Given the description of an element on the screen output the (x, y) to click on. 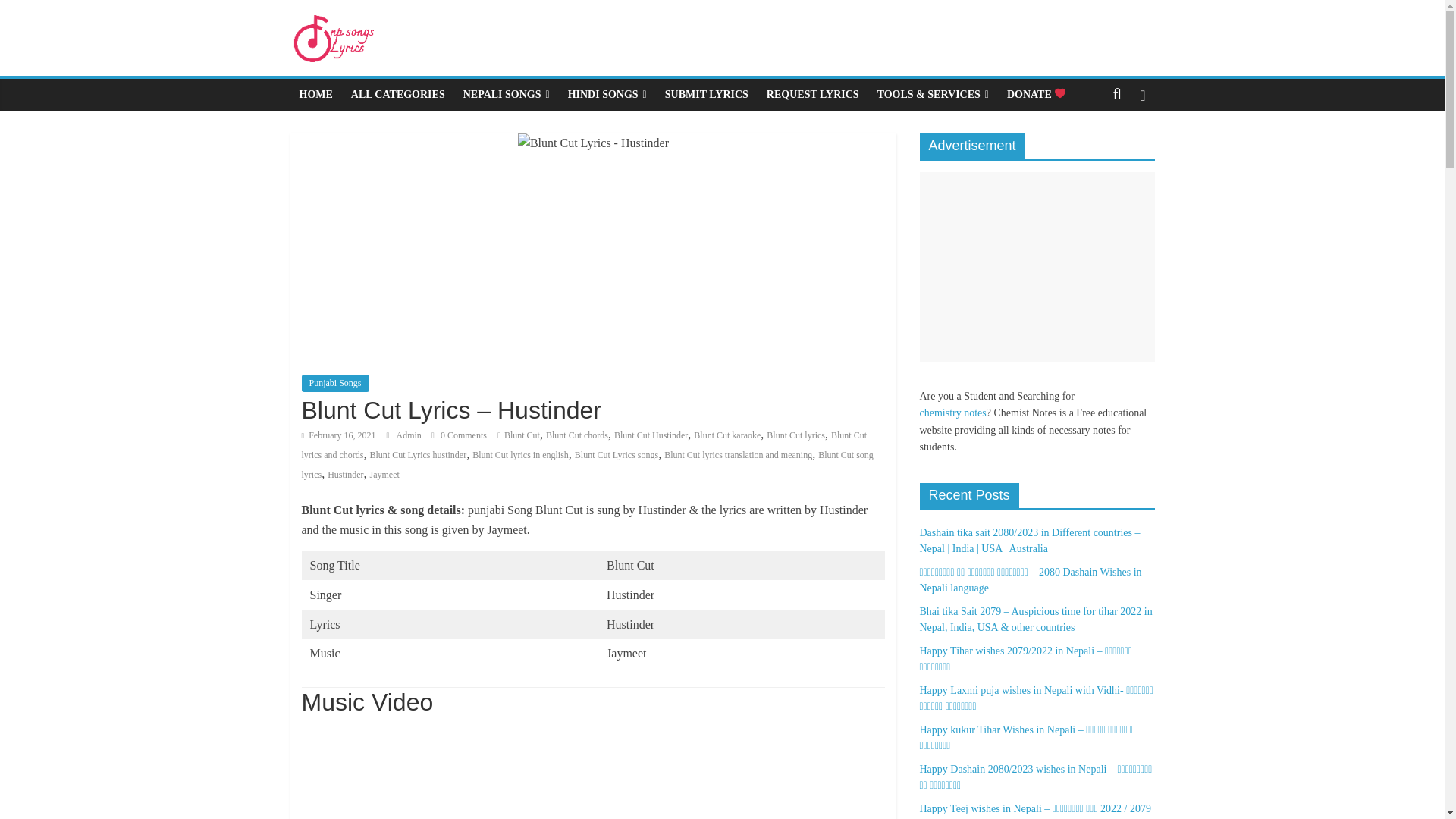
SUBMIT LYRICS (706, 94)
HOME (314, 94)
Blunt Cut Lyrics hustinder (417, 454)
Blunt Cut karaoke (727, 434)
Jaymeet (383, 474)
DONATE (1036, 94)
Blunt Cut Lyrics songs (616, 454)
Blunt Cut lyrics in english (520, 454)
0 Comments (458, 434)
Blunt Cut lyrics (796, 434)
